Given the description of an element on the screen output the (x, y) to click on. 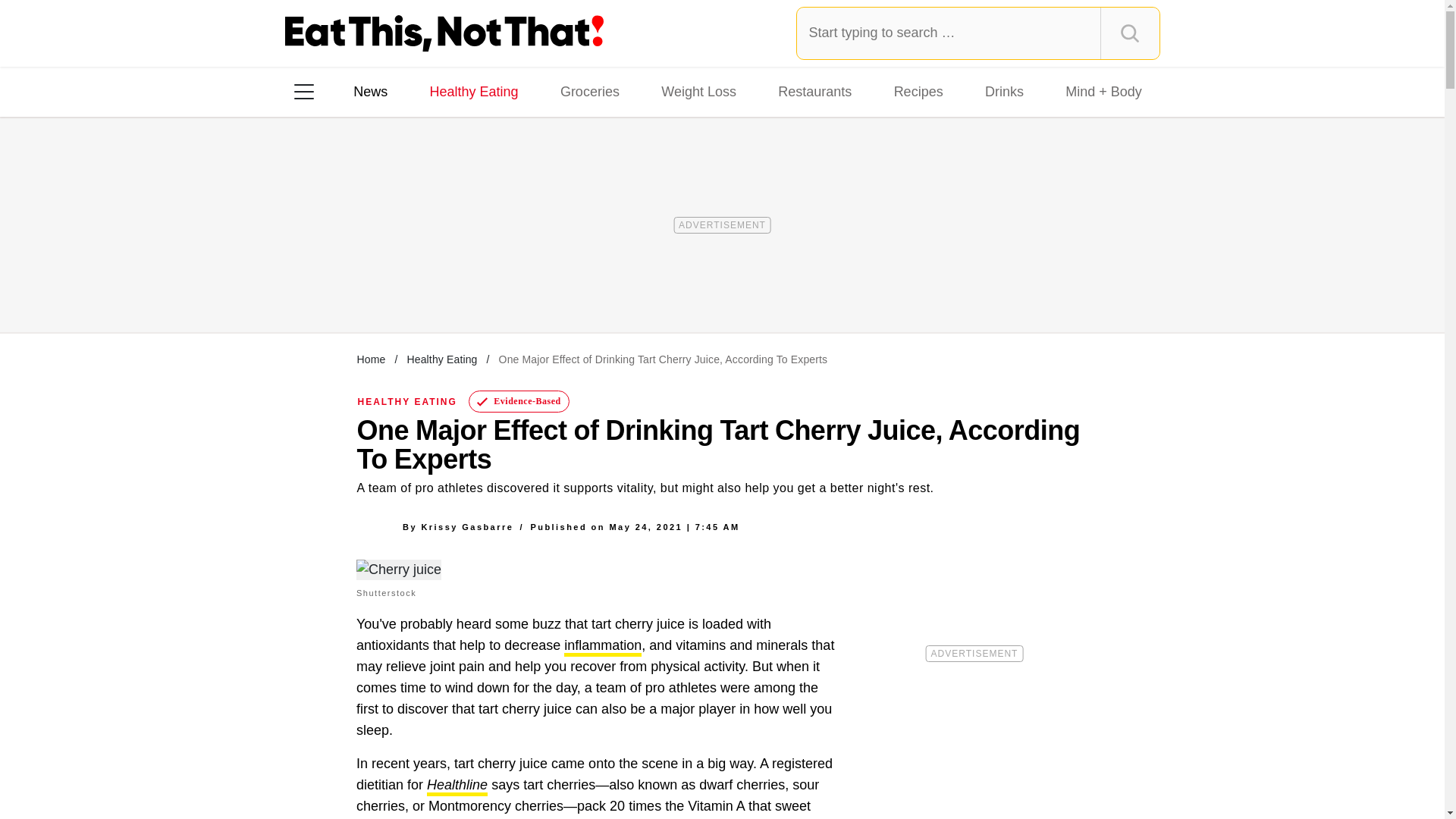
TikTok (399, 287)
Healthy Eating (441, 358)
Evidence-Based (518, 401)
Pinterest (443, 287)
Instagram (357, 287)
Posts by Krissy Gasbarre (466, 525)
TikTok (399, 287)
Healthy Eating (473, 91)
Restaurants (814, 91)
HEALTHY EATING (407, 401)
